Given the description of an element on the screen output the (x, y) to click on. 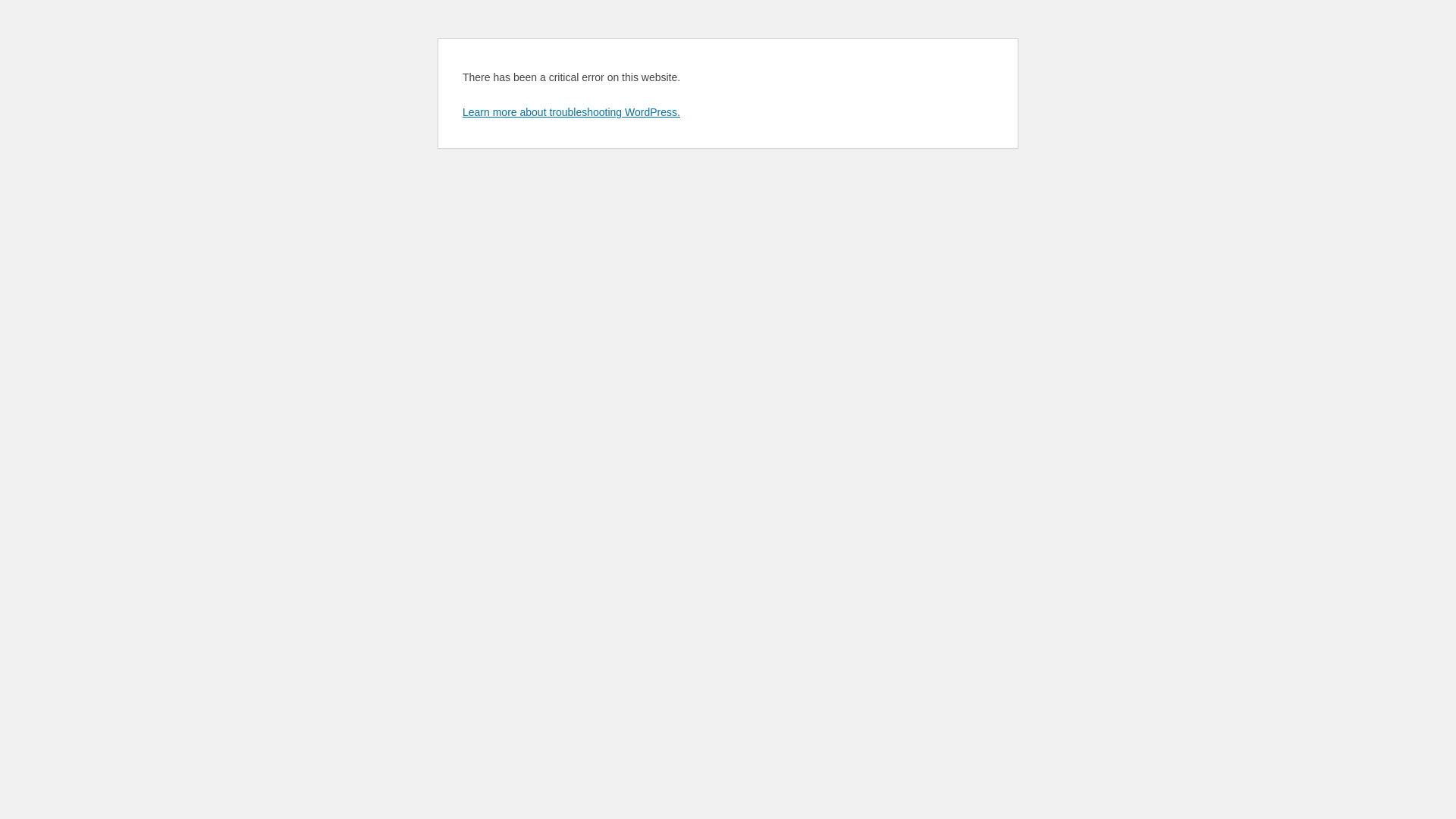
Learn more about troubleshooting WordPress. Element type: text (571, 112)
